Given the description of an element on the screen output the (x, y) to click on. 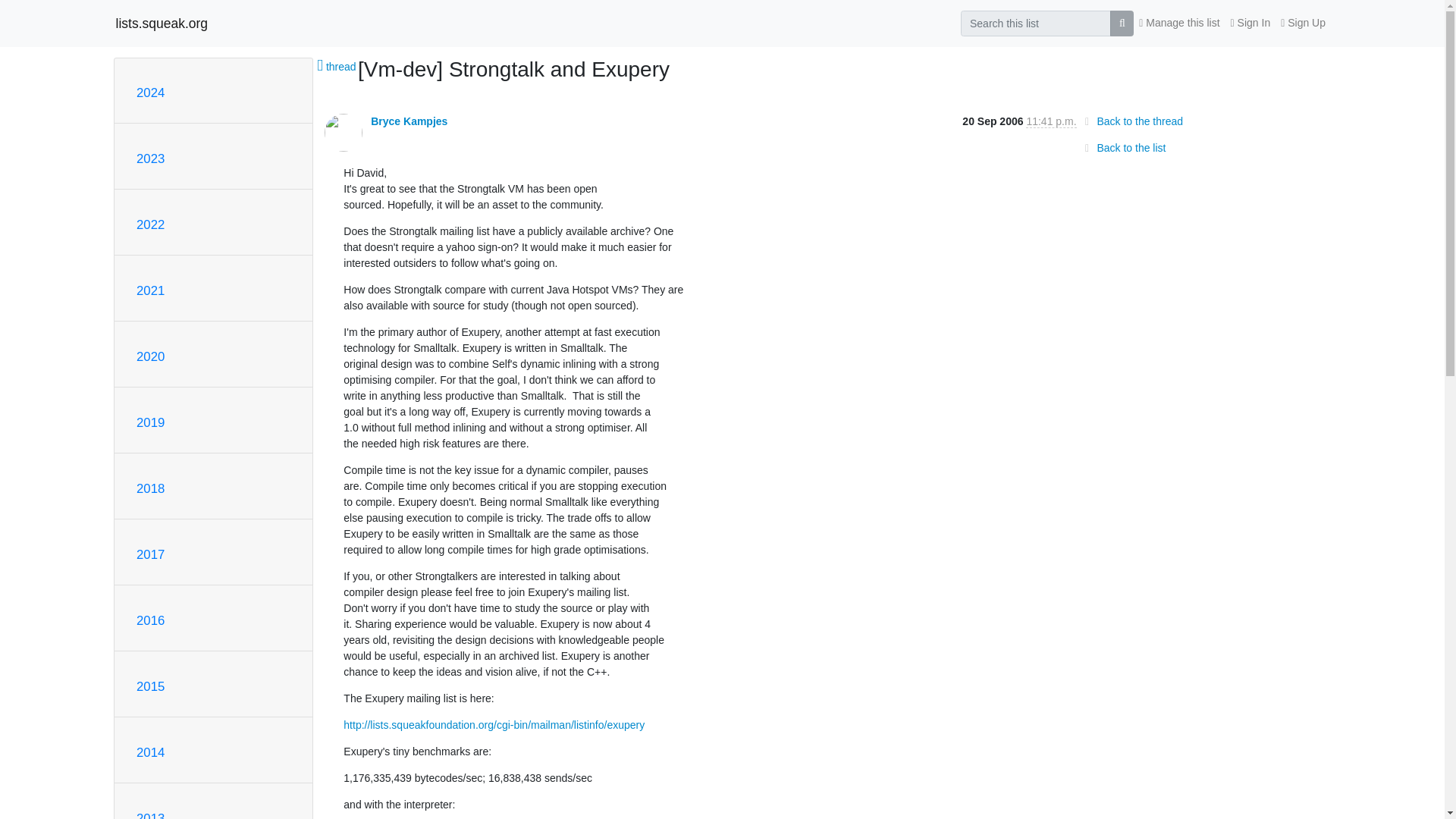
2022 (150, 224)
Sign Up (1302, 22)
2023 (150, 158)
2024 (150, 92)
Manage this list (1179, 22)
Sender's time: Sept. 20, 2006, 10:41 p.m. (1050, 121)
See the profile for Bryce Kampjes (408, 121)
lists.squeak.org (161, 22)
Sign In (1250, 22)
